Given the description of an element on the screen output the (x, y) to click on. 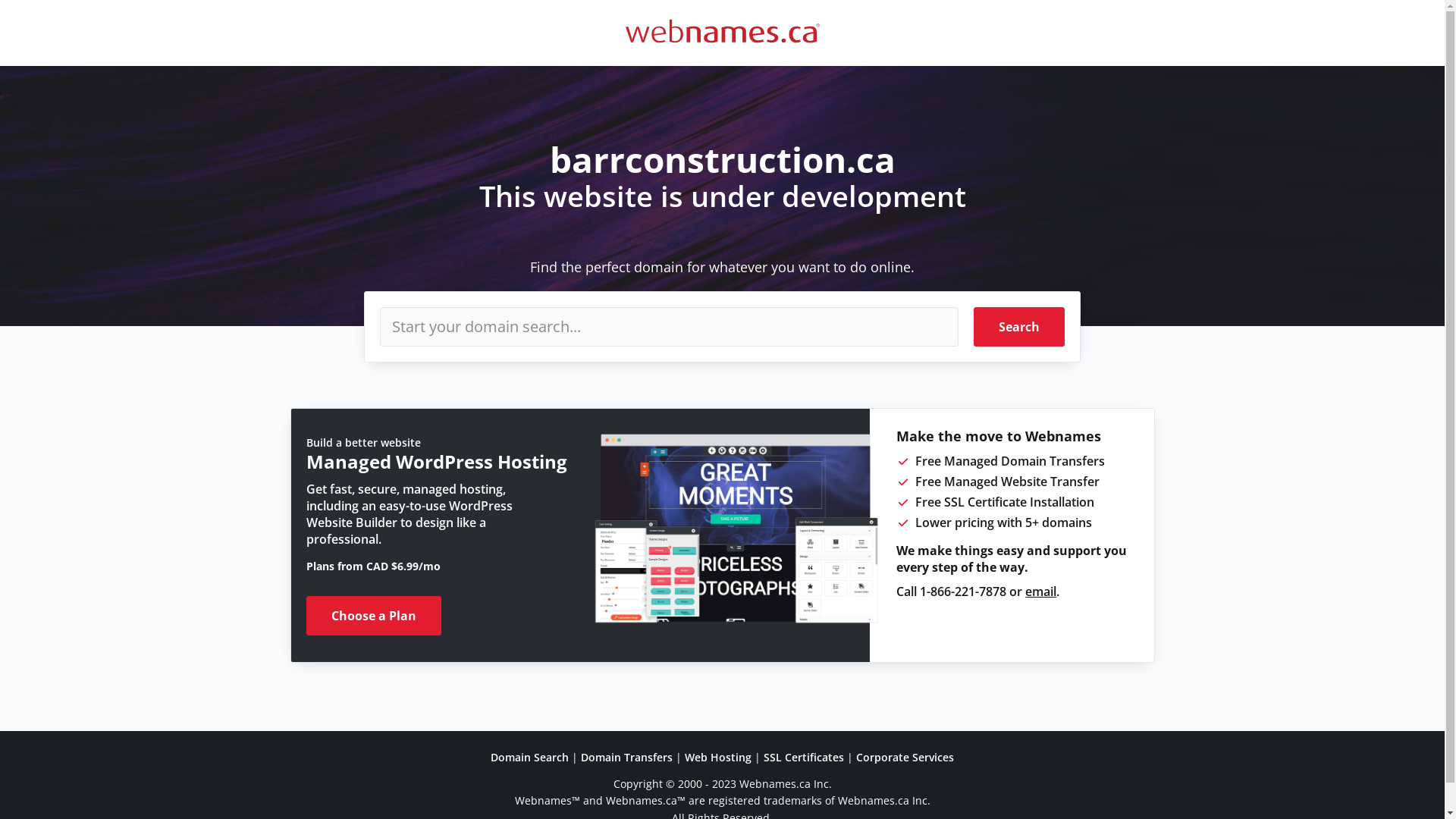
Domain Search Element type: text (529, 756)
1-866-221-7878 Element type: text (962, 591)
SSL Certificates Element type: text (803, 756)
Web Hosting Element type: text (717, 756)
Search Element type: text (1018, 326)
Domain Transfers Element type: text (626, 756)
email Element type: text (1040, 591)
Choose a Plan Element type: text (373, 615)
Corporate Services Element type: text (904, 756)
